Given the description of an element on the screen output the (x, y) to click on. 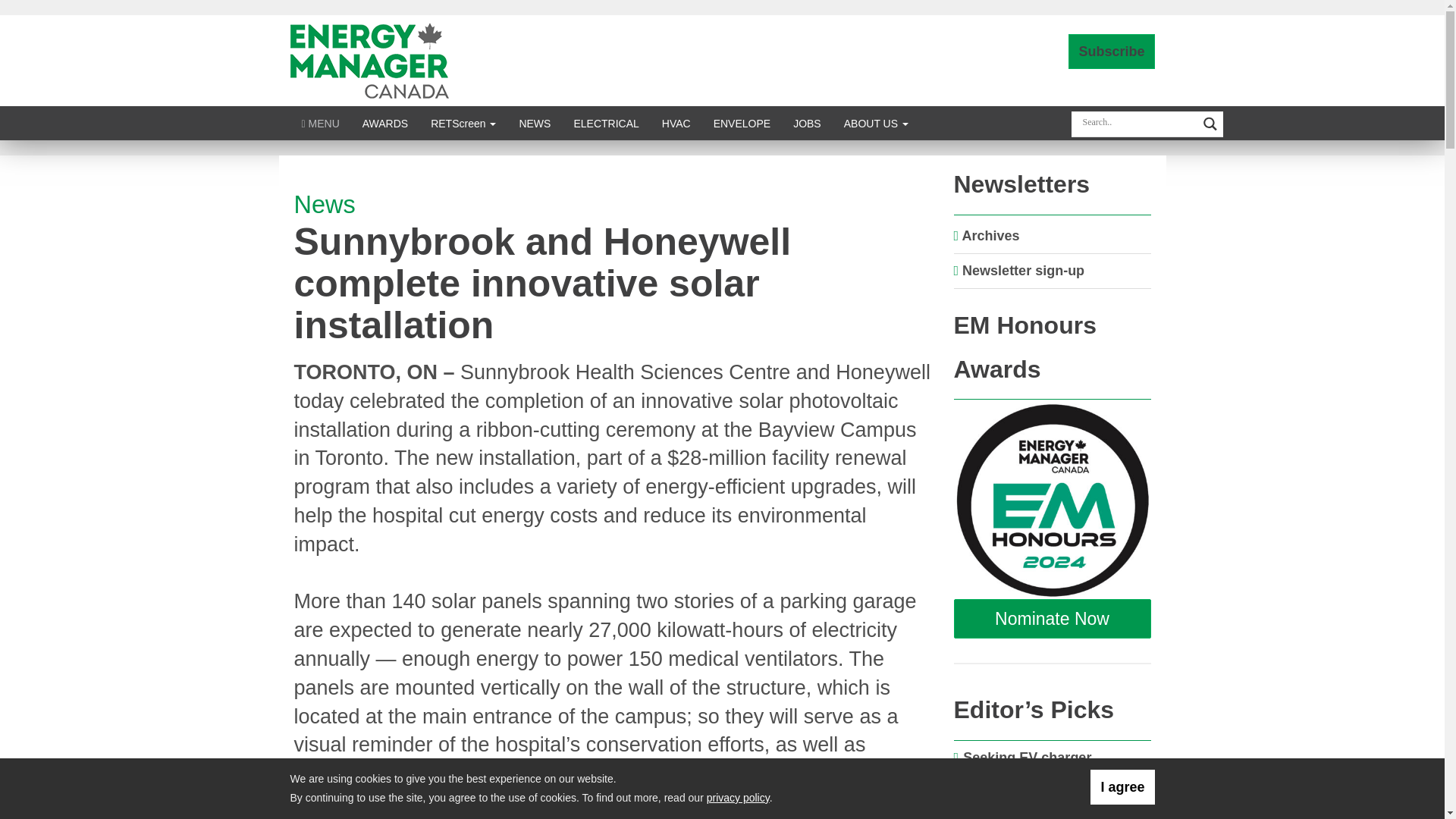
Energy Manager (368, 59)
Subscribe (1111, 51)
Click to show site navigation (319, 123)
RETScreen (462, 123)
Subscribe (1111, 51)
MENU (319, 123)
ABOUT US (876, 123)
HVAC (675, 123)
ELECTRICAL (605, 123)
NEWS (534, 123)
